Given the description of an element on the screen output the (x, y) to click on. 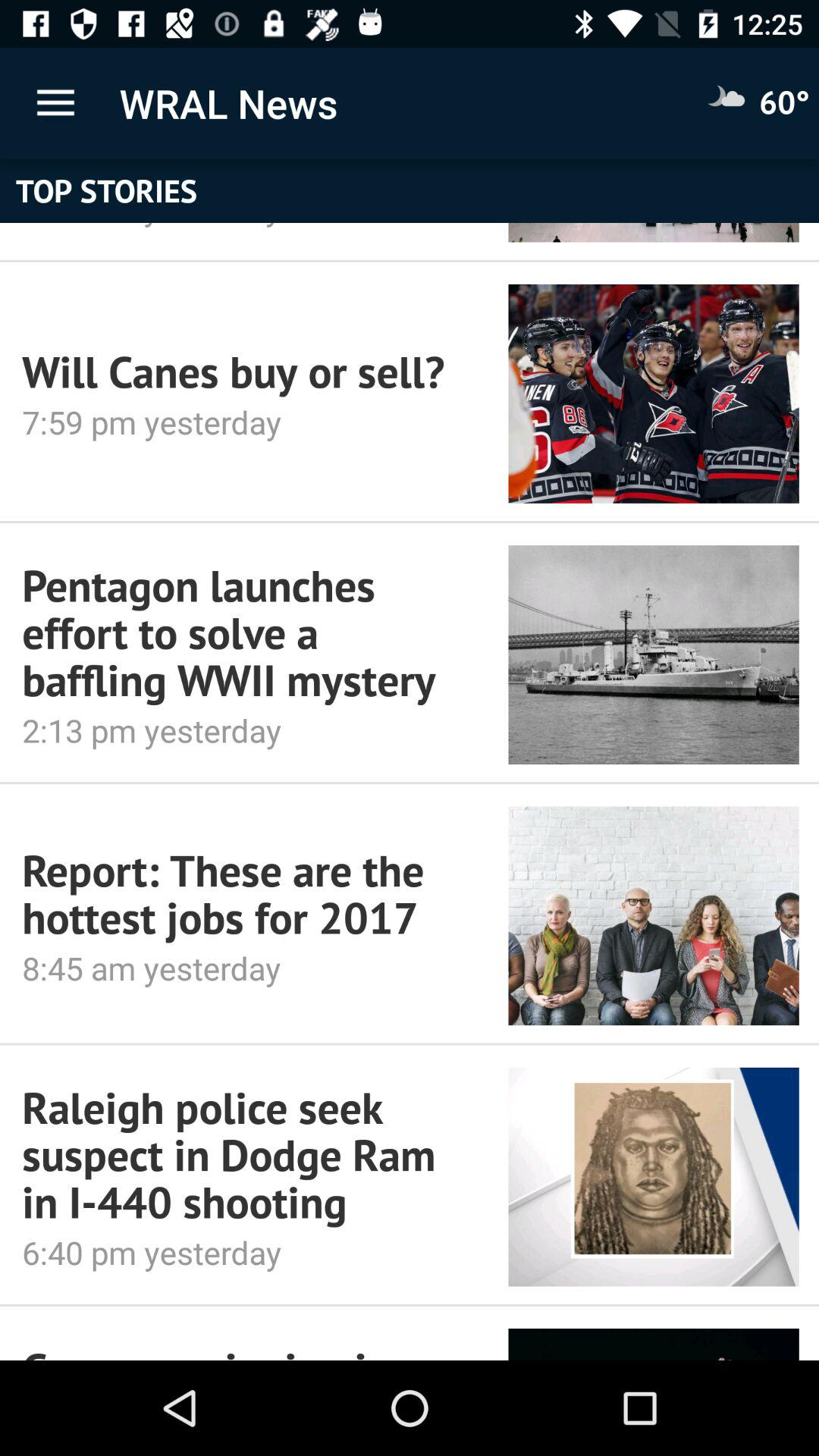
turn off icon above 6 40 pm item (244, 1154)
